Given the description of an element on the screen output the (x, y) to click on. 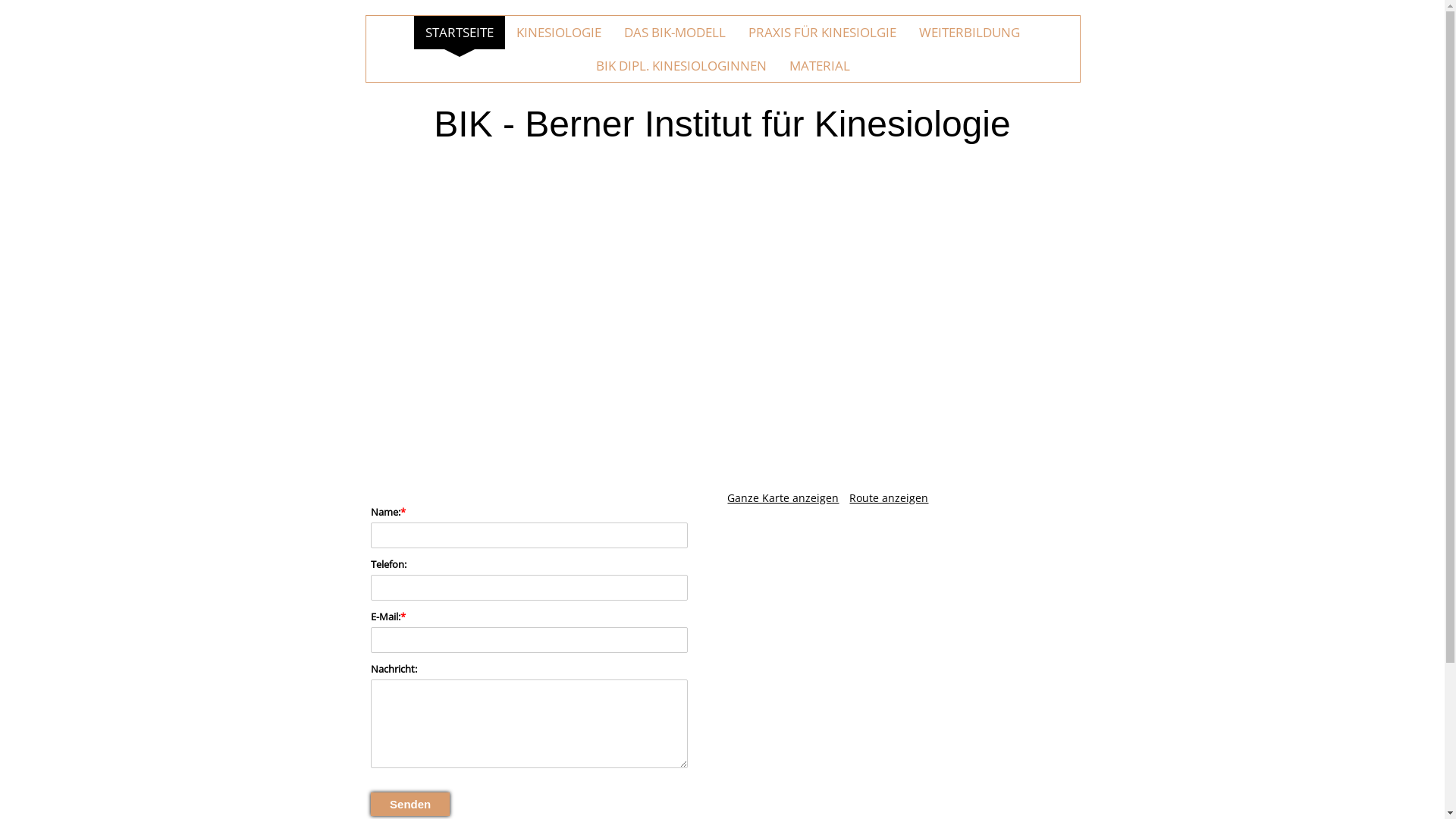
Ganze Karte anzeigen Element type: text (782, 497)
MATERIAL Element type: text (819, 65)
DAS BIK-MODELL Element type: text (674, 32)
WEITERBILDUNG Element type: text (969, 32)
Route anzeigen Element type: text (888, 497)
BIK DIPL. KINESIOLOGINNEN Element type: text (681, 65)
Senden Element type: text (409, 803)
KINESIOLOGIE Element type: text (558, 32)
STARTSEITE Element type: text (459, 32)
